Given the description of an element on the screen output the (x, y) to click on. 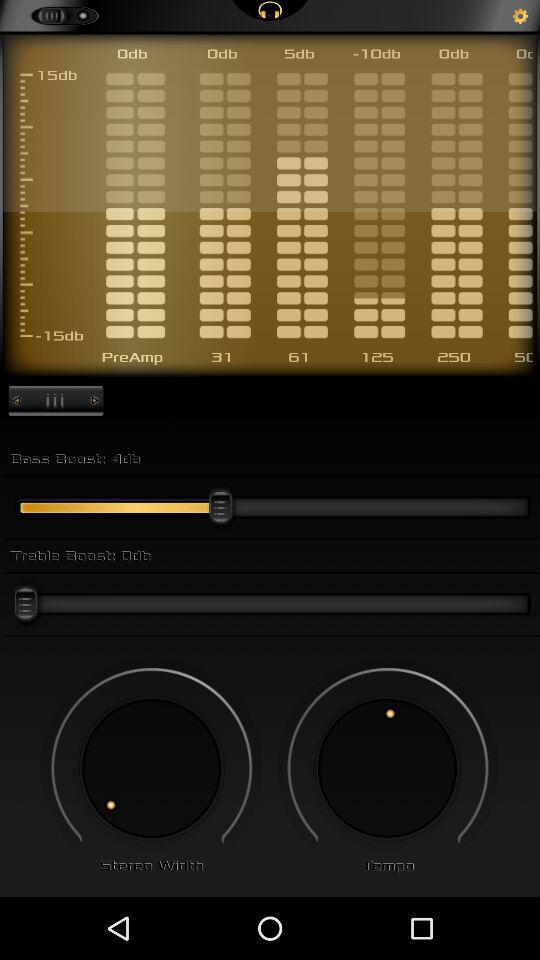
to adjust tempo (387, 768)
